Given the description of an element on the screen output the (x, y) to click on. 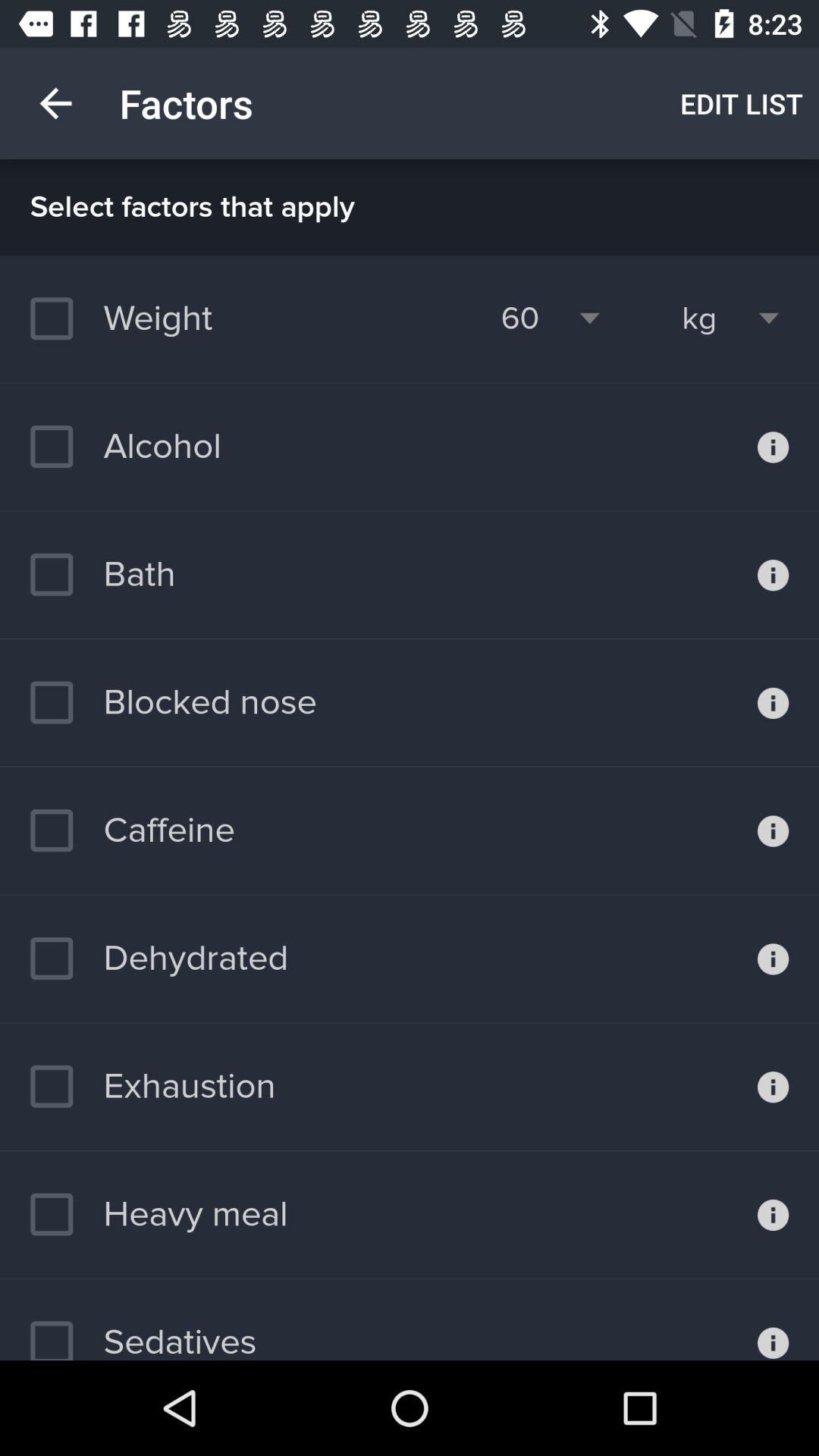
provide more information (773, 1319)
